Given the description of an element on the screen output the (x, y) to click on. 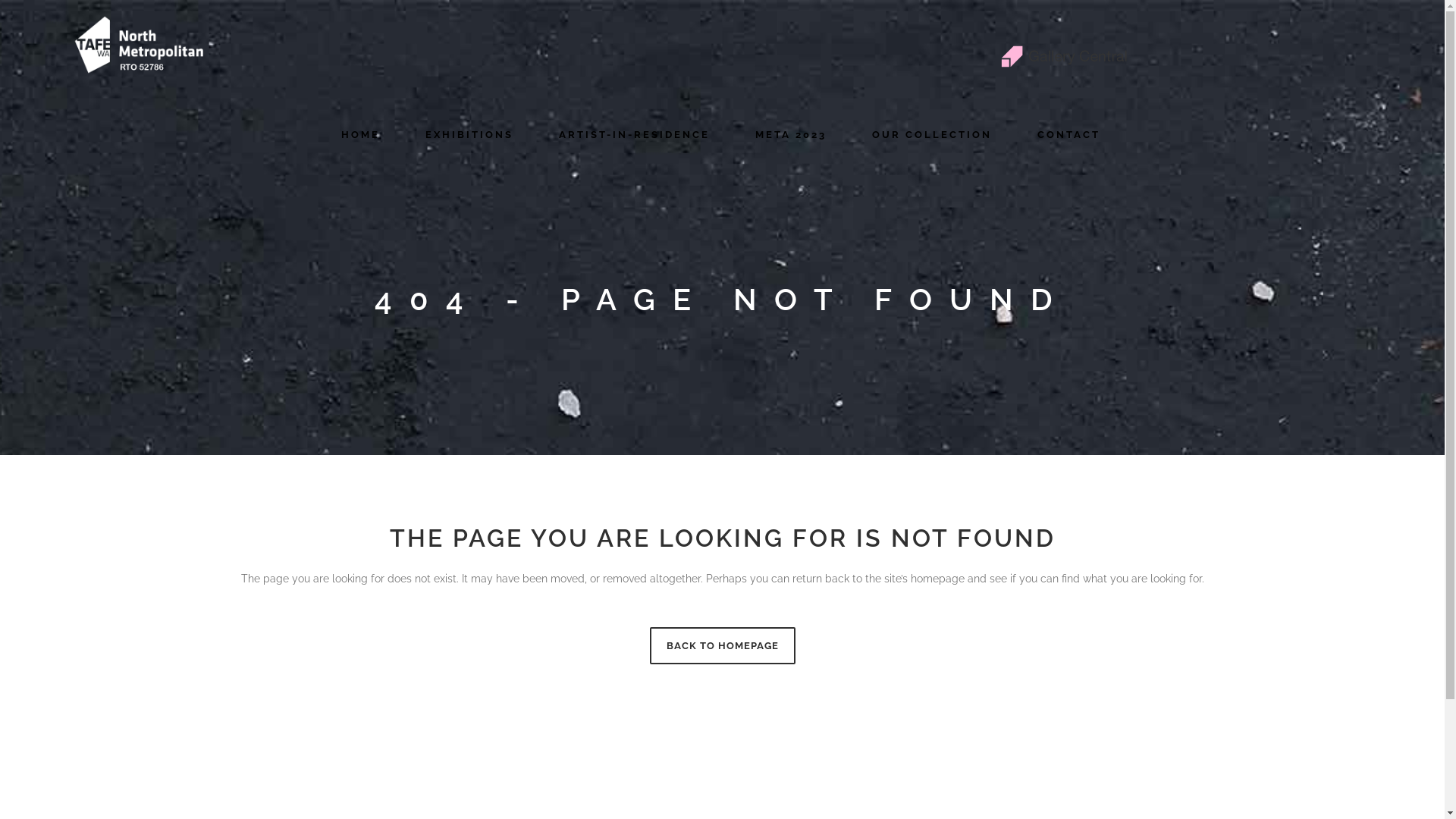
META 2023 Element type: text (790, 134)
BACK TO HOMEPAGE Element type: text (721, 645)
ARTIST-IN-RESIDENCE Element type: text (634, 134)
EXHIBITIONS Element type: text (469, 134)
OUR COLLECTION Element type: text (931, 134)
CONTACT Element type: text (1068, 134)
HOME Element type: text (360, 134)
